Given the description of an element on the screen output the (x, y) to click on. 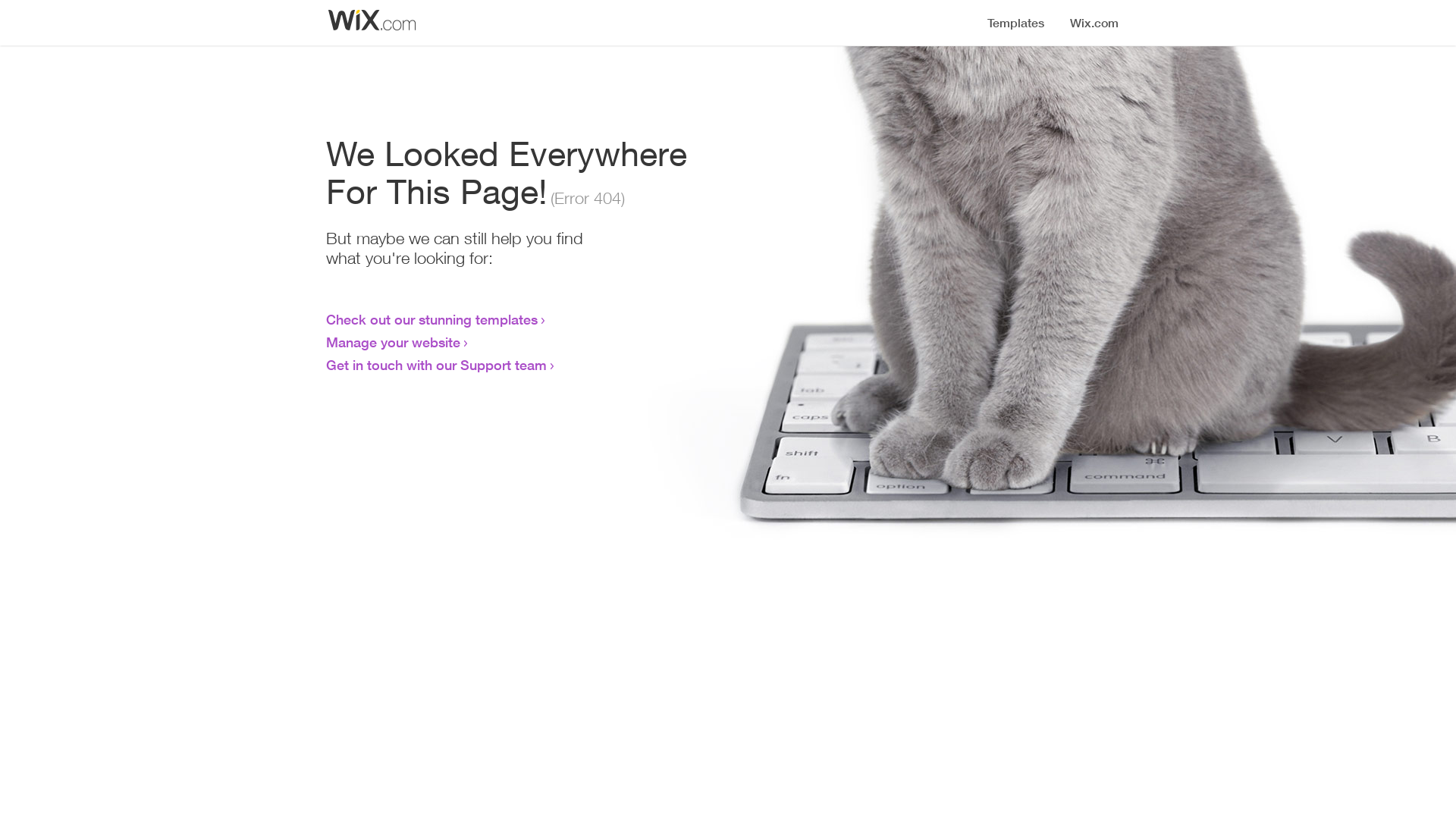
Manage your website Element type: text (393, 341)
Check out our stunning templates Element type: text (431, 318)
Get in touch with our Support team Element type: text (436, 364)
